Given the description of an element on the screen output the (x, y) to click on. 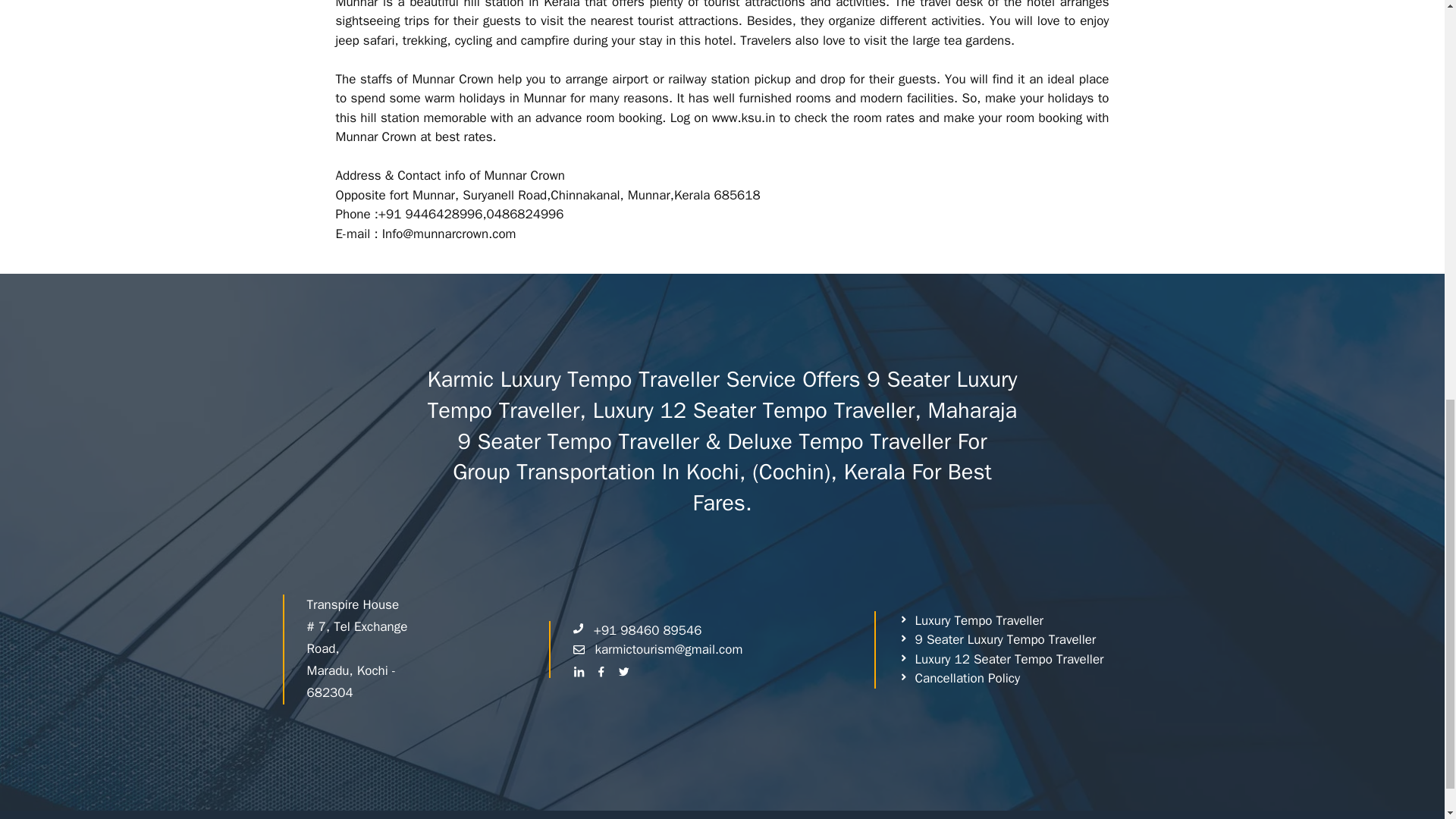
Cancellation Policy (959, 678)
Luxury 12 Seater Tempo Traveller (1000, 659)
9 Seater Luxury Tempo Traveller (997, 639)
Luxury Tempo Traveller (970, 620)
Scroll back to top (1406, 720)
